Given the description of an element on the screen output the (x, y) to click on. 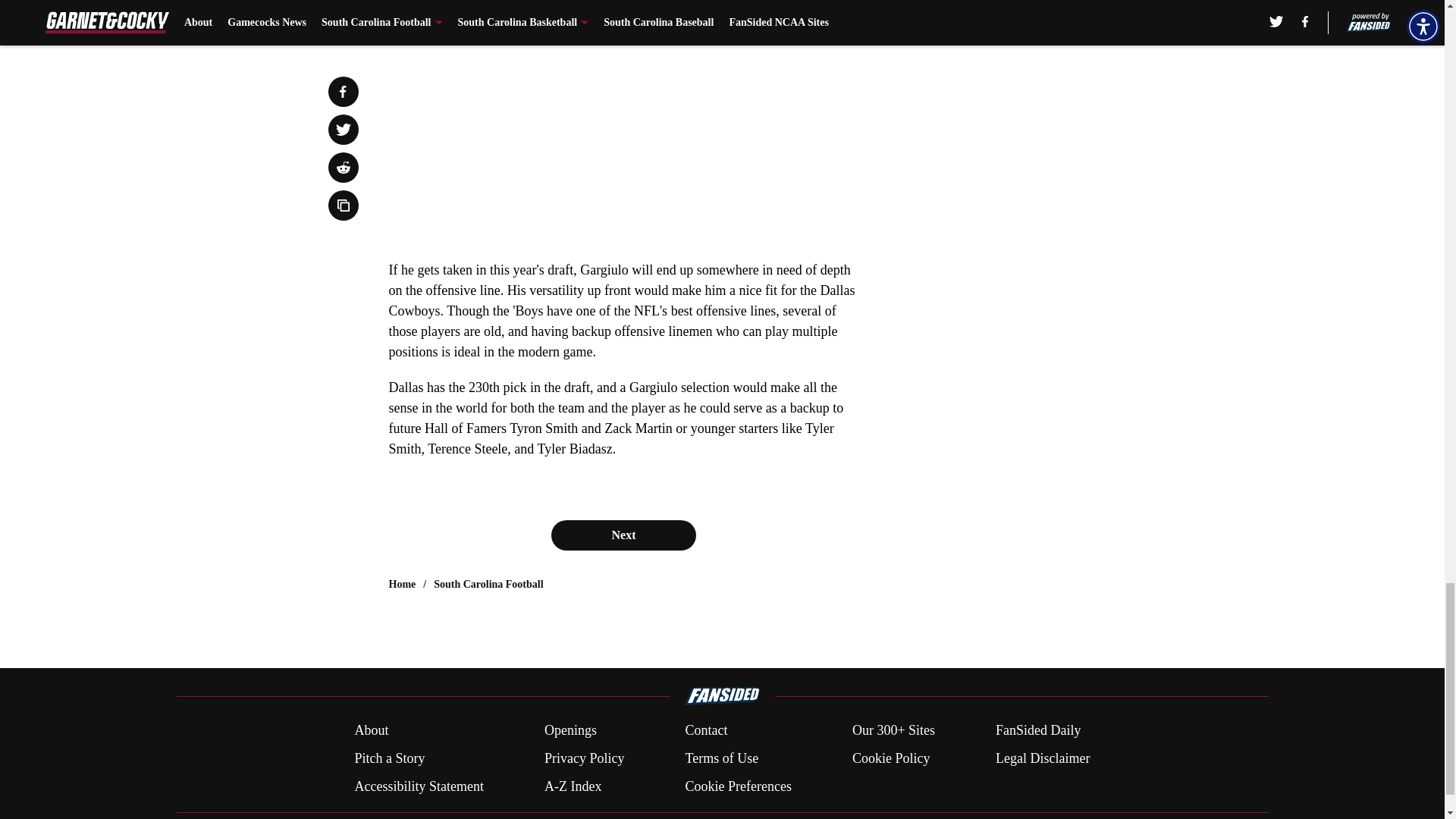
South Carolina Football (488, 584)
Next (622, 535)
Openings (570, 730)
About (370, 730)
FanSided Daily (1038, 730)
Privacy Policy (584, 758)
Home (401, 584)
Pitch a Story (389, 758)
Contact (705, 730)
